Given the description of an element on the screen output the (x, y) to click on. 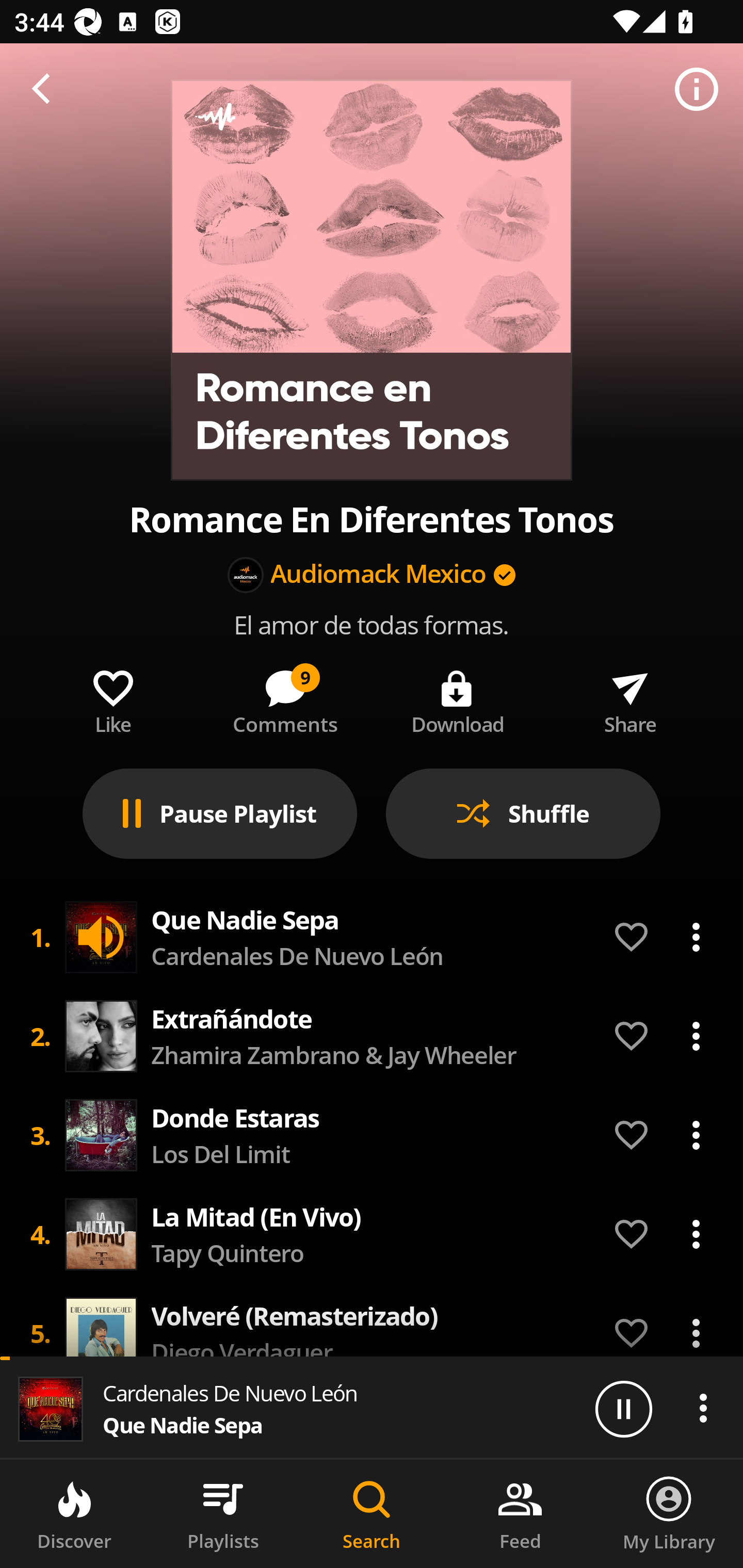
Close (46, 89)
Music info (696, 89)
Audiomack Mexico (378, 574)
Like (112, 698)
Comment Comment 9 Comments (285, 698)
Download (457, 698)
Share (629, 698)
Pause Playlist (219, 813)
Shuffle (522, 813)
Actions (695, 936)
Actions (695, 1036)
Actions (695, 1135)
Actions (695, 1233)
Actions (695, 1328)
Actions (703, 1407)
Play/Pause (623, 1408)
Discover (74, 1513)
Playlists (222, 1513)
Search (371, 1513)
Feed (519, 1513)
My Library (668, 1513)
